Given the description of an element on the screen output the (x, y) to click on. 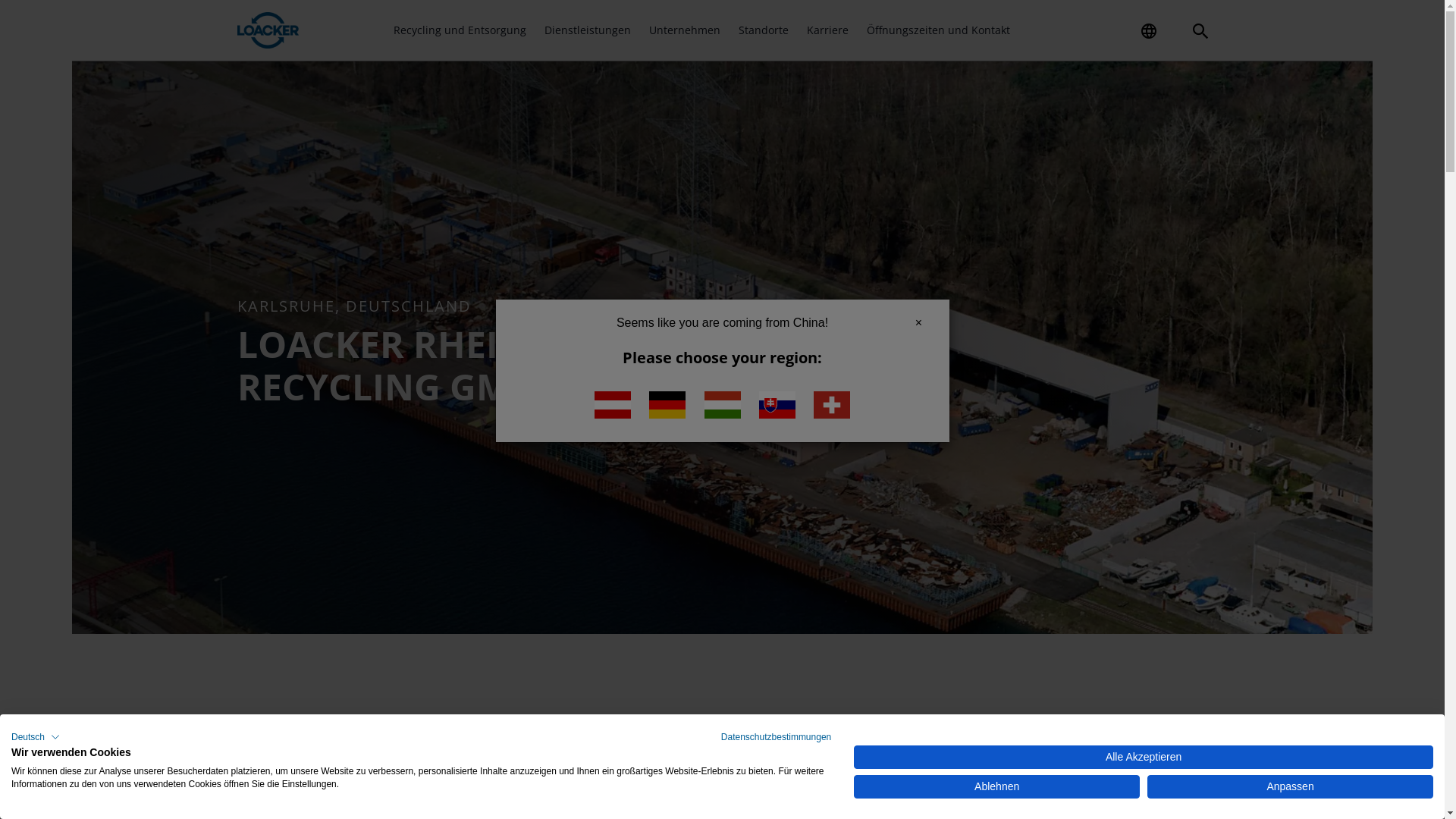
Ablehnen Element type: text (996, 786)
Dienstleistungen Element type: text (587, 30)
Zur Bestellung Element type: text (1038, 24)
Recycling und Entsorgung Element type: text (459, 30)
Datenschutzbestimmungen Element type: text (776, 736)
Karriere Element type: text (827, 30)
Unternehmen Element type: text (684, 30)
zur Startseite Element type: hover (267, 30)
Standorte Element type: text (763, 30)
Anpassen Element type: text (1290, 786)
Alle Akzeptieren Element type: text (1143, 756)
